Given the description of an element on the screen output the (x, y) to click on. 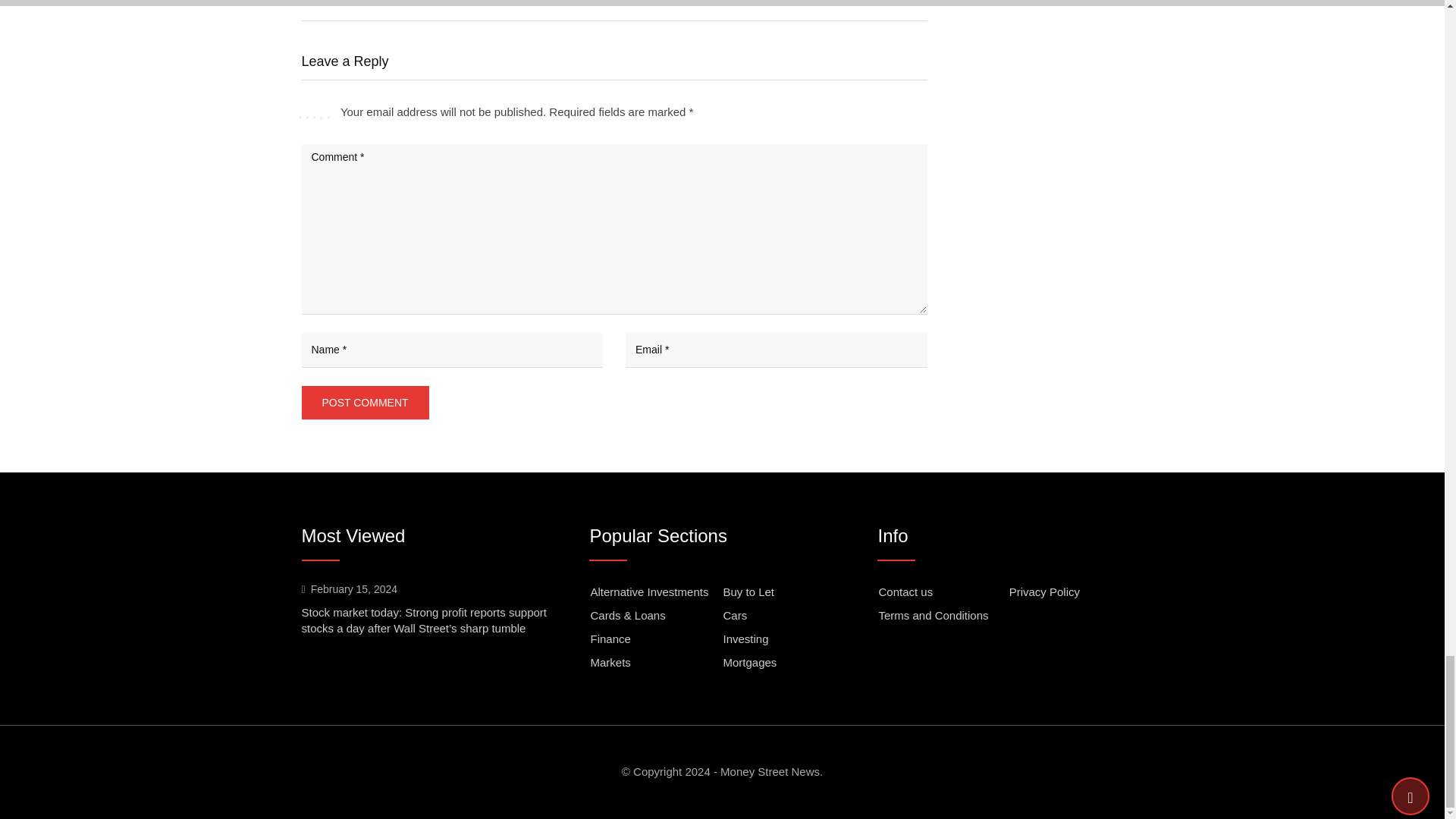
Post Comment (365, 402)
